Given the description of an element on the screen output the (x, y) to click on. 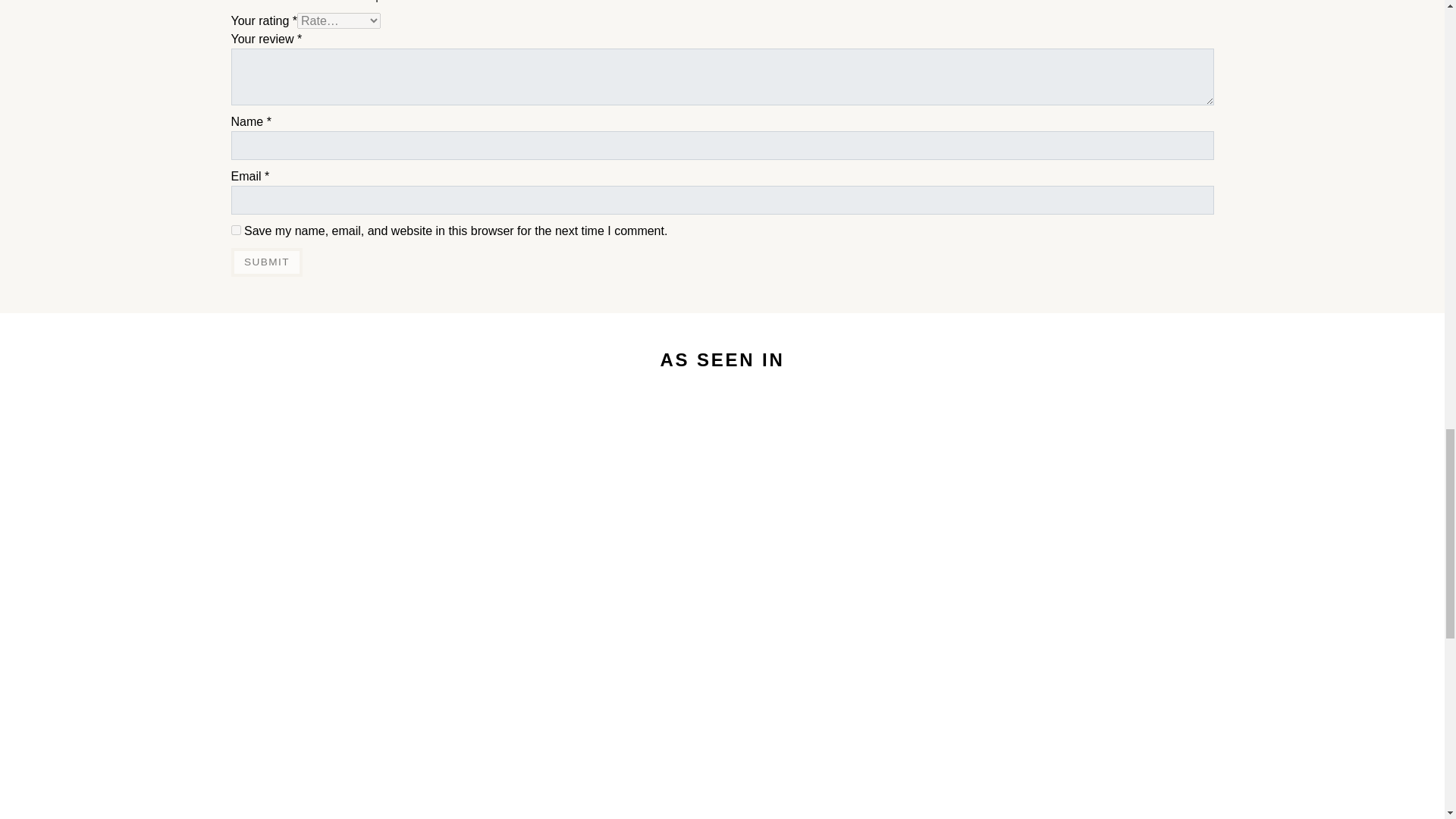
Submit (266, 262)
yes (235, 230)
